Given the description of an element on the screen output the (x, y) to click on. 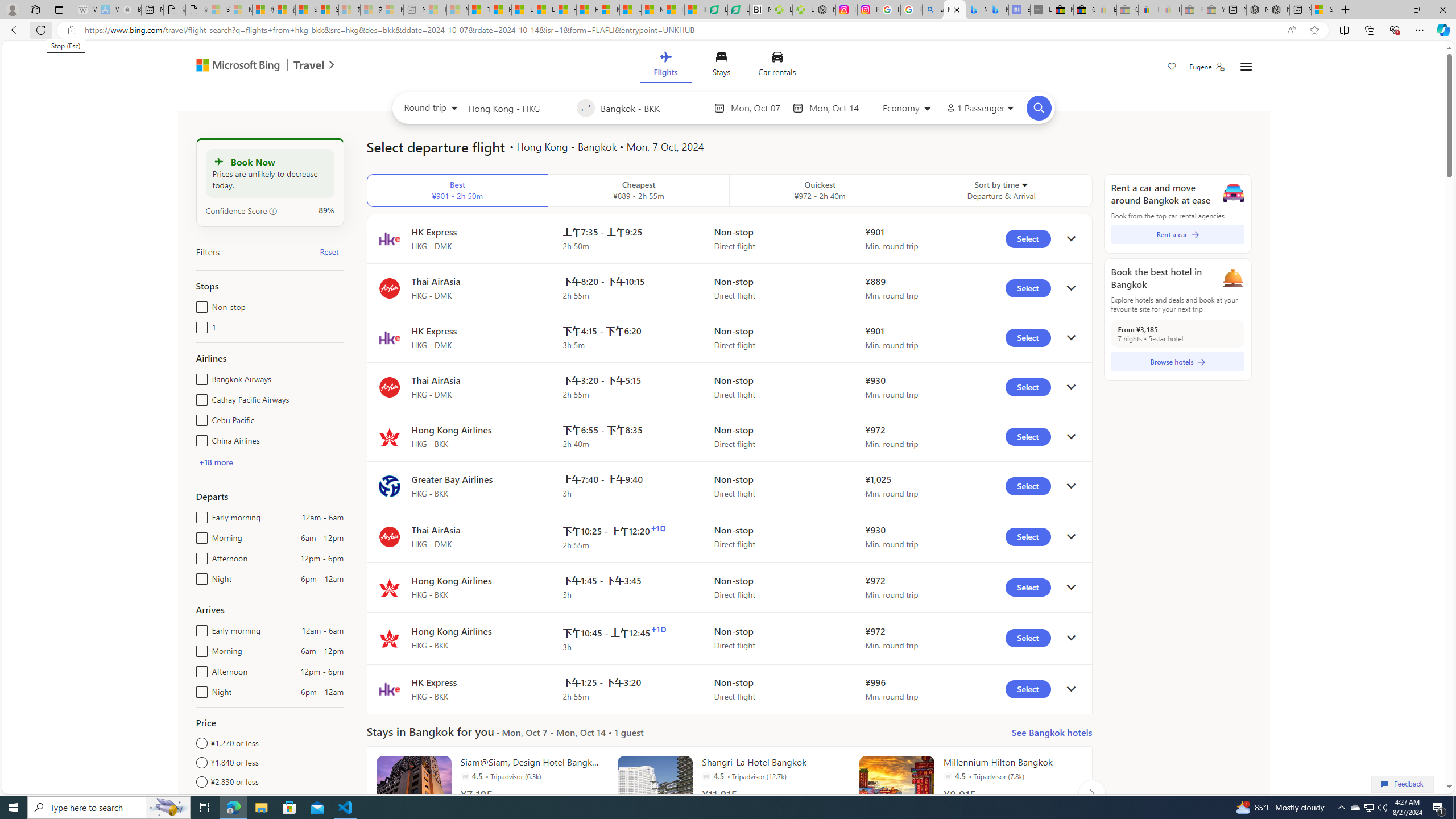
Eugene (1206, 66)
Class: trvl-hub-header nofilter (723, 65)
Marine life - MSN - Sleeping (457, 9)
Travel (308, 65)
Food and Drink - MSN (500, 9)
Select trip type (428, 110)
